Given the description of an element on the screen output the (x, y) to click on. 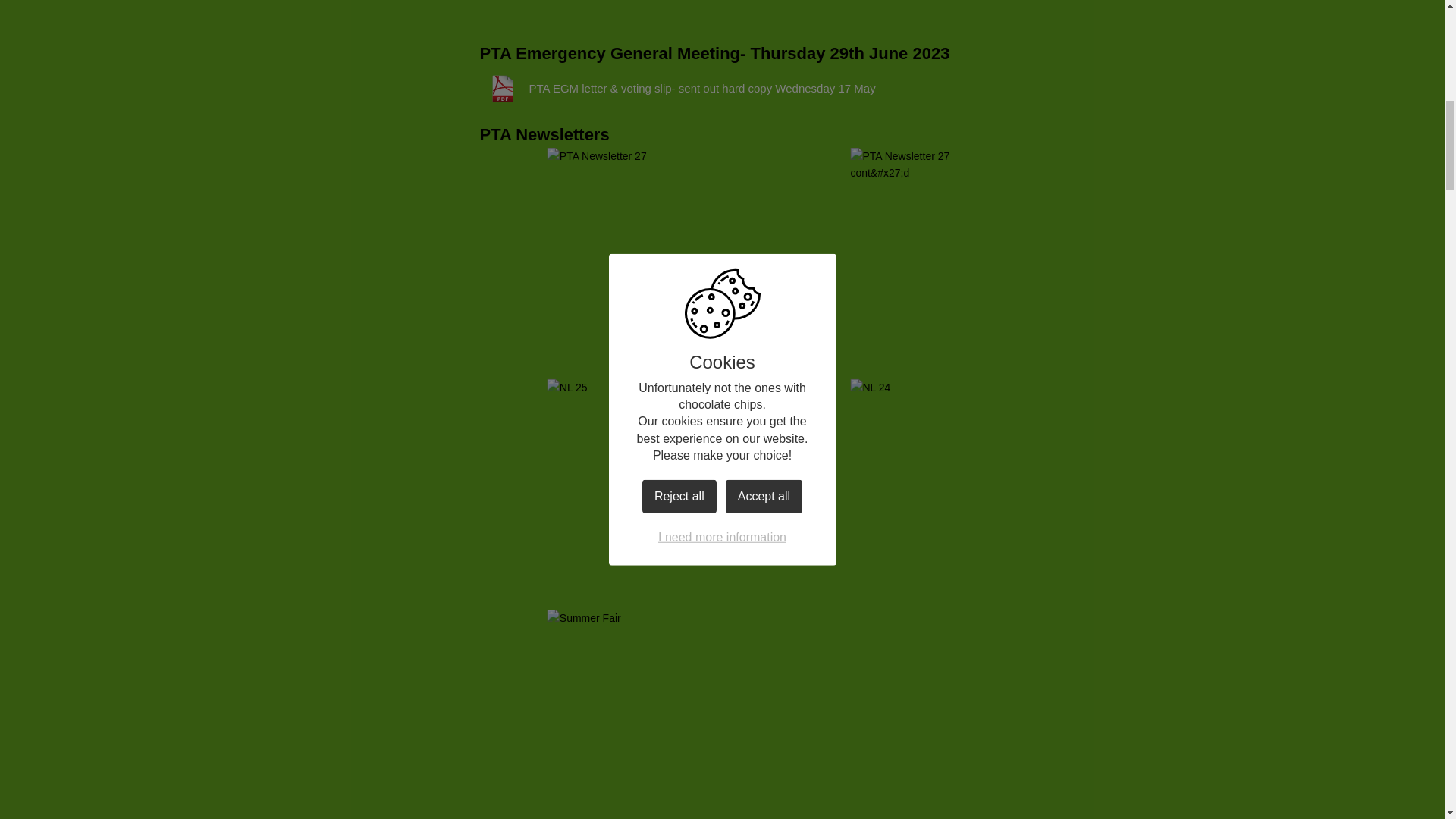
View large version of image (926, 255)
View large version of image (623, 255)
View large version of image (926, 486)
View large version of image (623, 486)
View large version of image (926, 714)
View large version of image (623, 714)
